Given the description of an element on the screen output the (x, y) to click on. 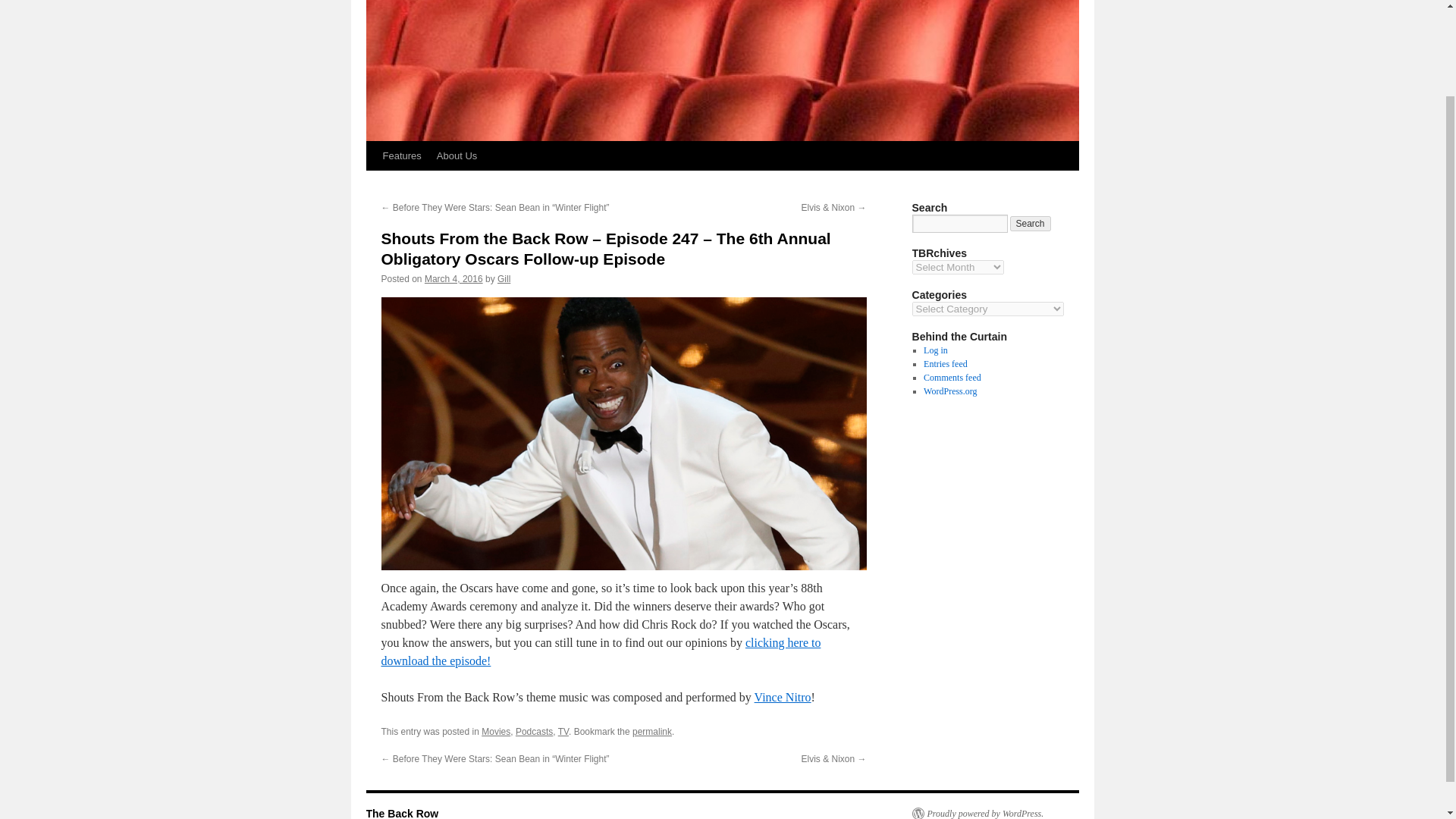
WordPress.org (949, 390)
Vince Nitro (782, 697)
About Us (456, 155)
Search (1030, 223)
TV (563, 731)
March 4, 2016 (454, 278)
1:00 pm (454, 278)
permalink (651, 731)
Movies (496, 731)
Podcasts (534, 731)
Search (1030, 223)
Log in (935, 349)
Gill (504, 278)
clicking here to download the episode! (600, 651)
Features (401, 155)
